Given the description of an element on the screen output the (x, y) to click on. 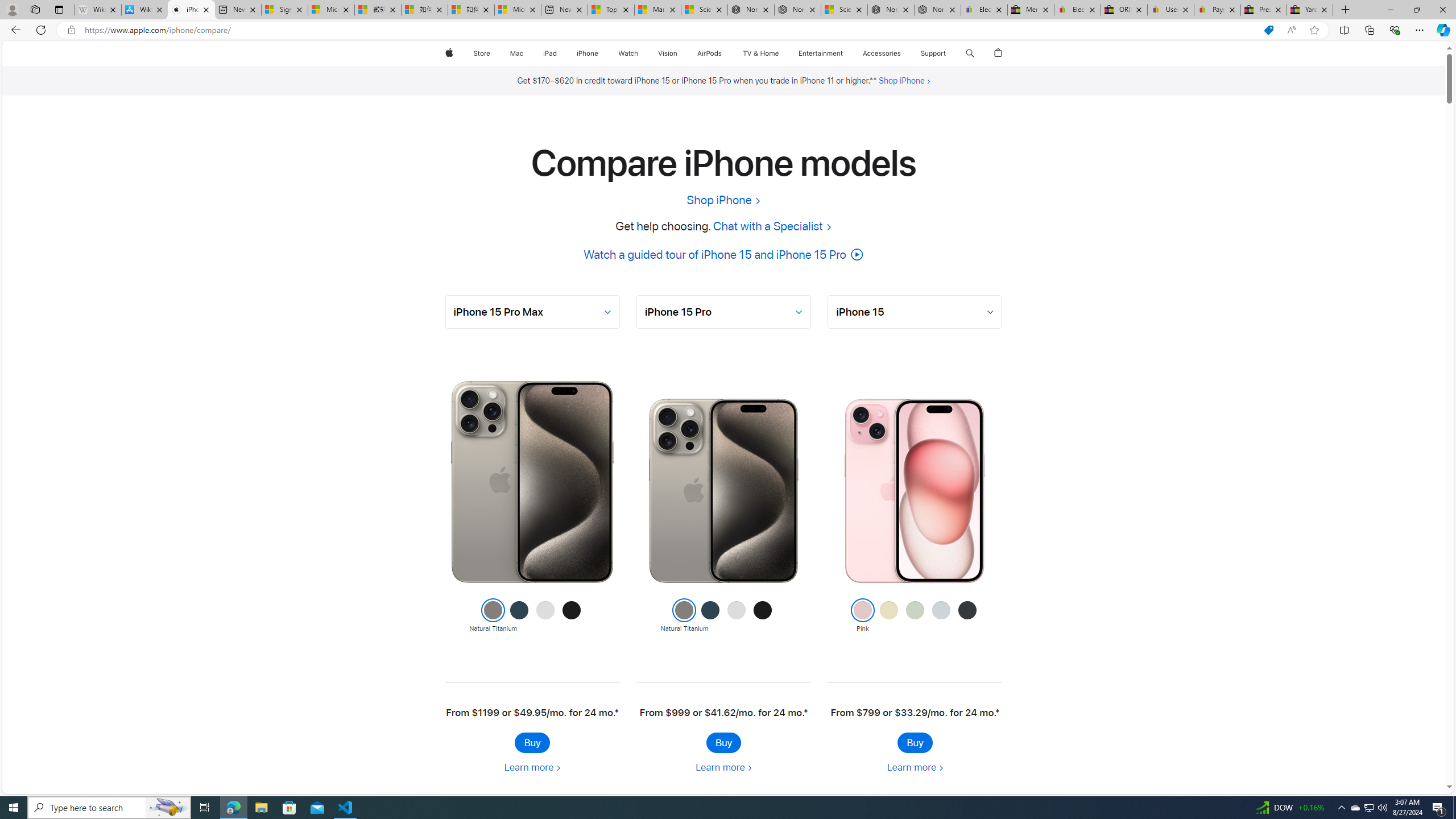
Yellow (888, 615)
Learn more about iPhone 15 Pro Max (531, 767)
Mac (516, 53)
iPhone menu (600, 53)
iPhone - Compare Models - Apple (191, 9)
AutomationID: globalnav-bag (998, 53)
Accessories menu (903, 53)
Search apple.com (969, 53)
Store menu (492, 53)
AirPods menu (723, 53)
